Given the description of an element on the screen output the (x, y) to click on. 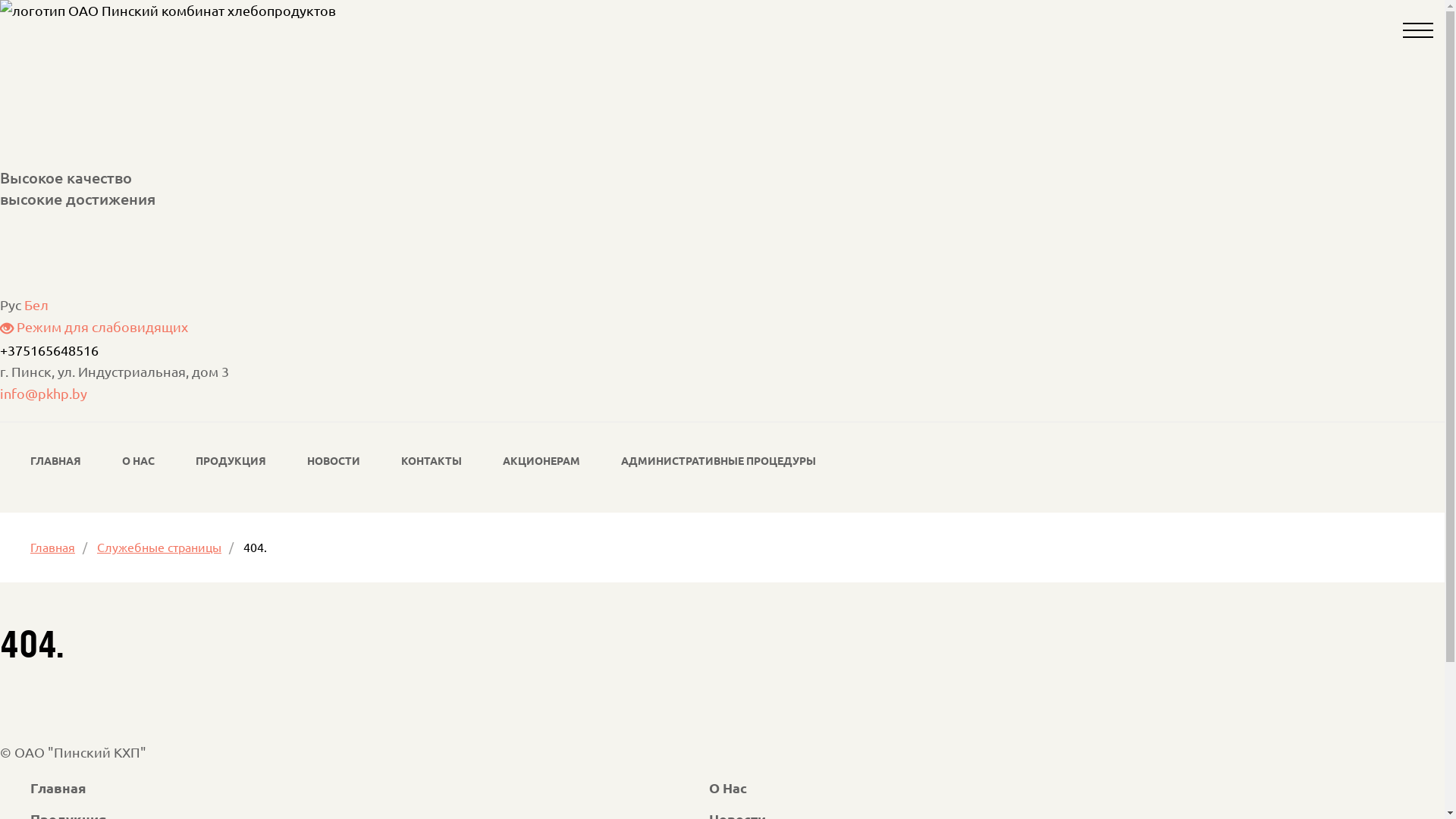
+375165648516 Element type: text (49, 349)
info@pkhp.by Element type: text (43, 393)
